Given the description of an element on the screen output the (x, y) to click on. 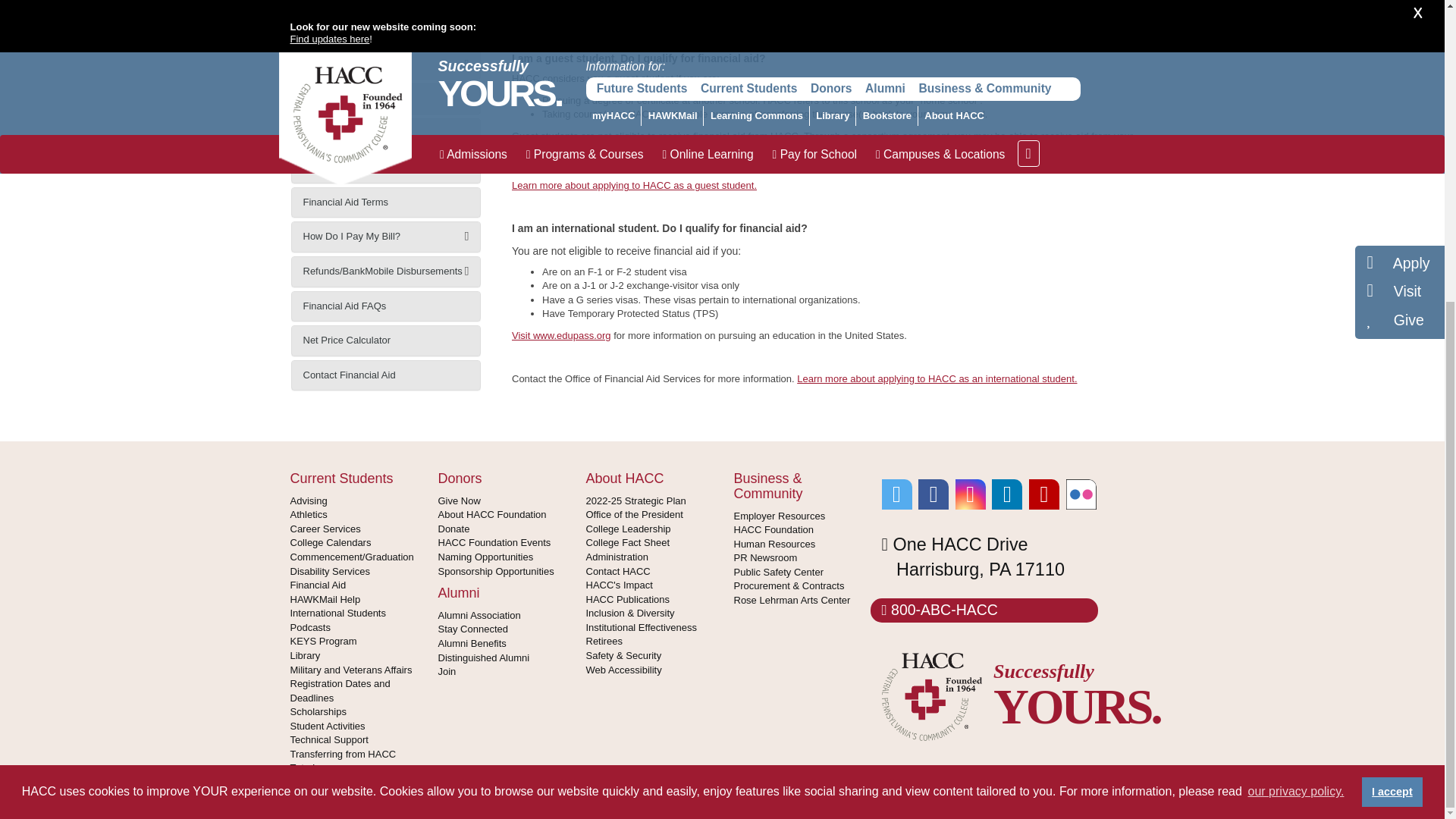
our privacy policy. (1294, 320)
I accept (1392, 320)
